Given the description of an element on the screen output the (x, y) to click on. 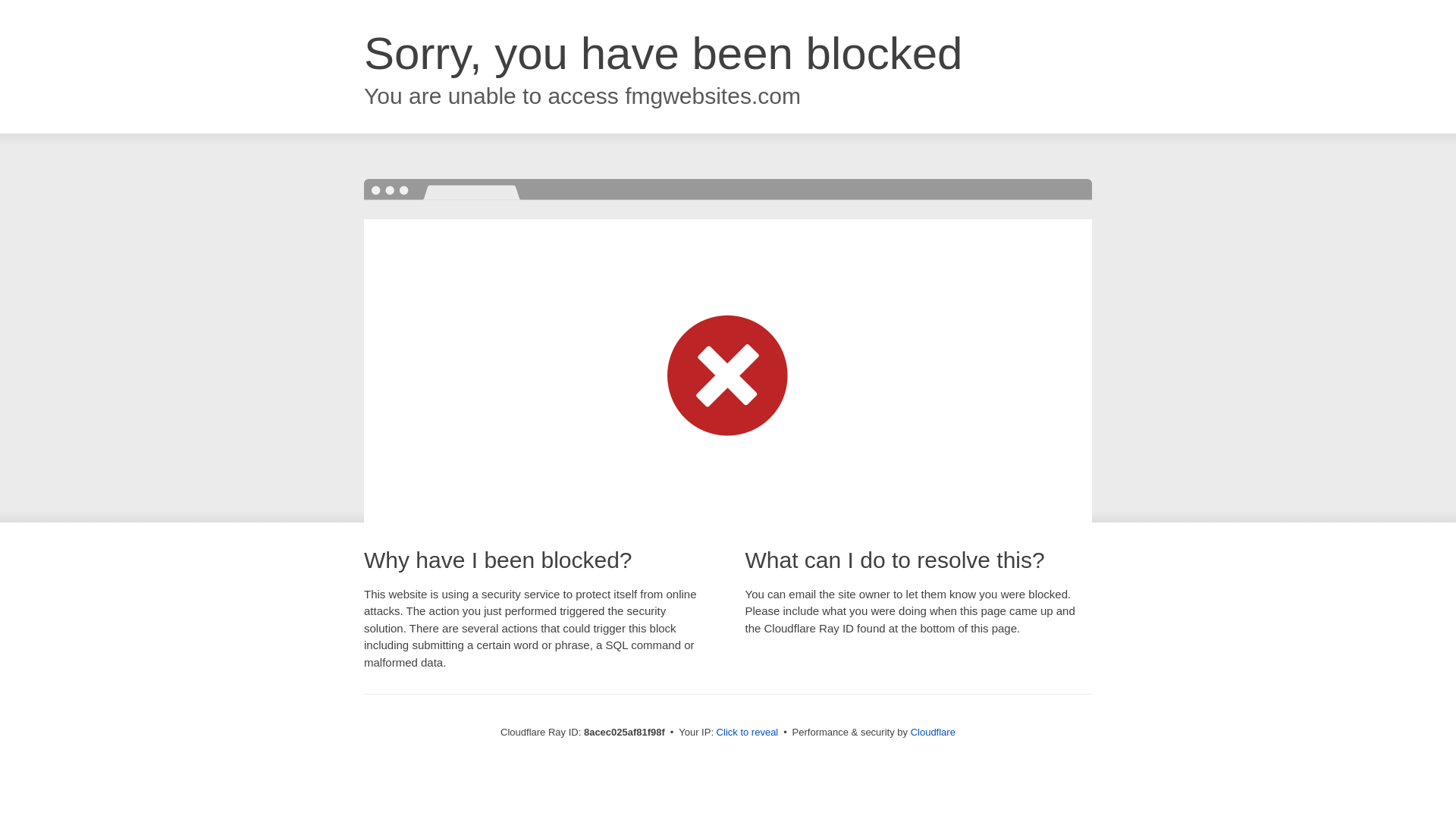
Click to reveal (747, 732)
Cloudflare (933, 731)
